Given the description of an element on the screen output the (x, y) to click on. 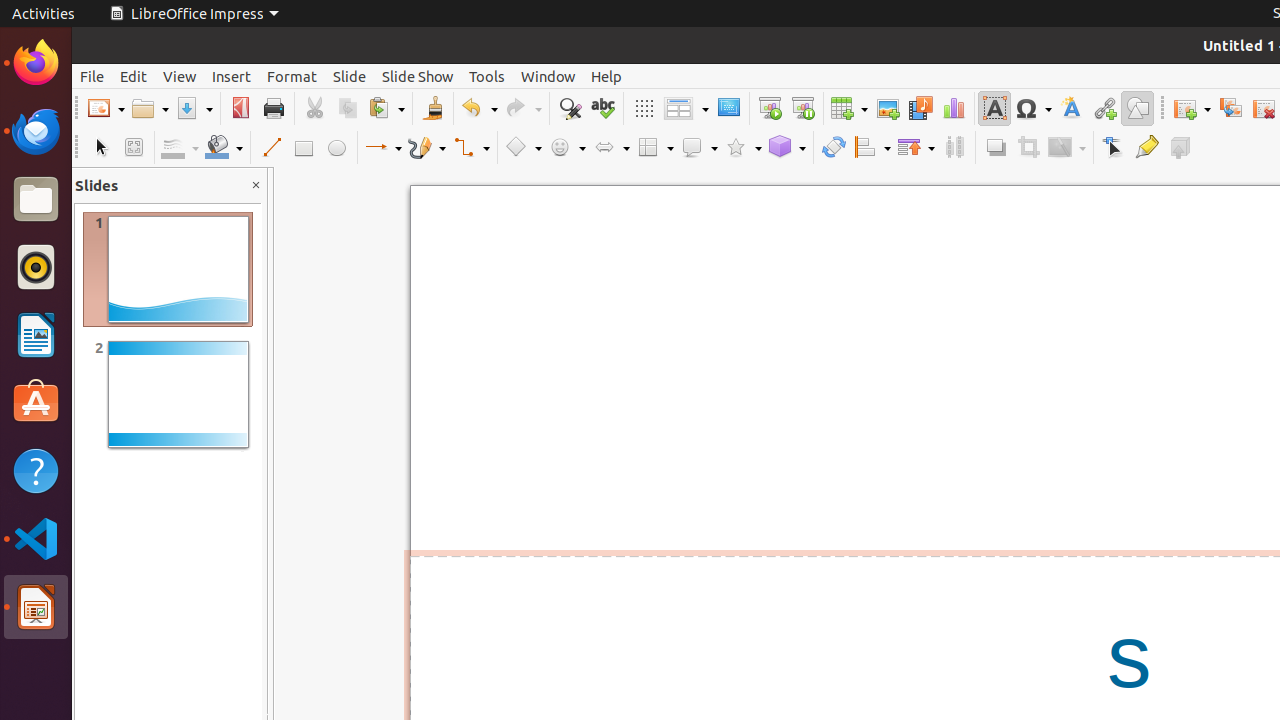
Align Element type: push-button (872, 147)
Hyperlink Element type: toggle-button (1104, 108)
Select Element type: push-button (100, 147)
Curves and Polygons Element type: push-button (427, 147)
Media Element type: push-button (920, 108)
